Given the description of an element on the screen output the (x, y) to click on. 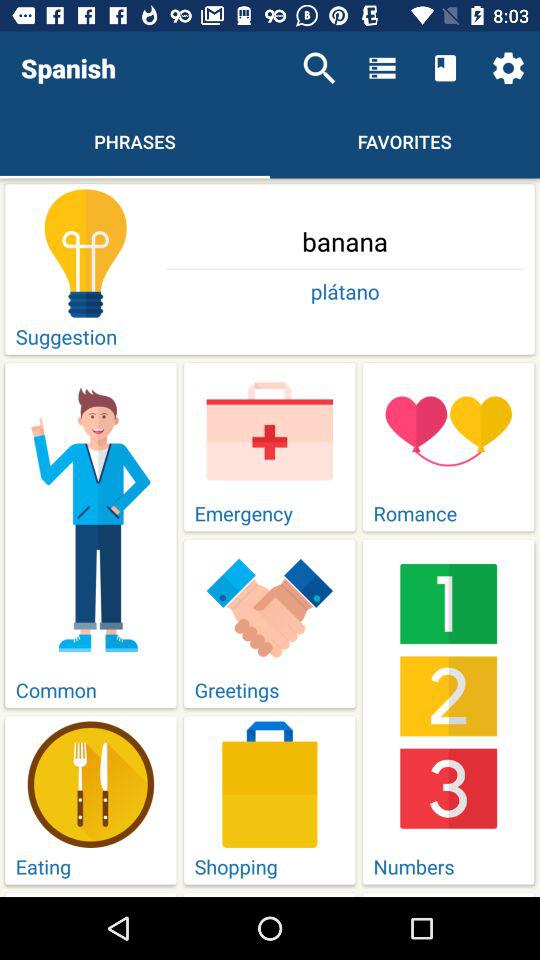
choose icon above the favorites (444, 67)
